Given the description of an element on the screen output the (x, y) to click on. 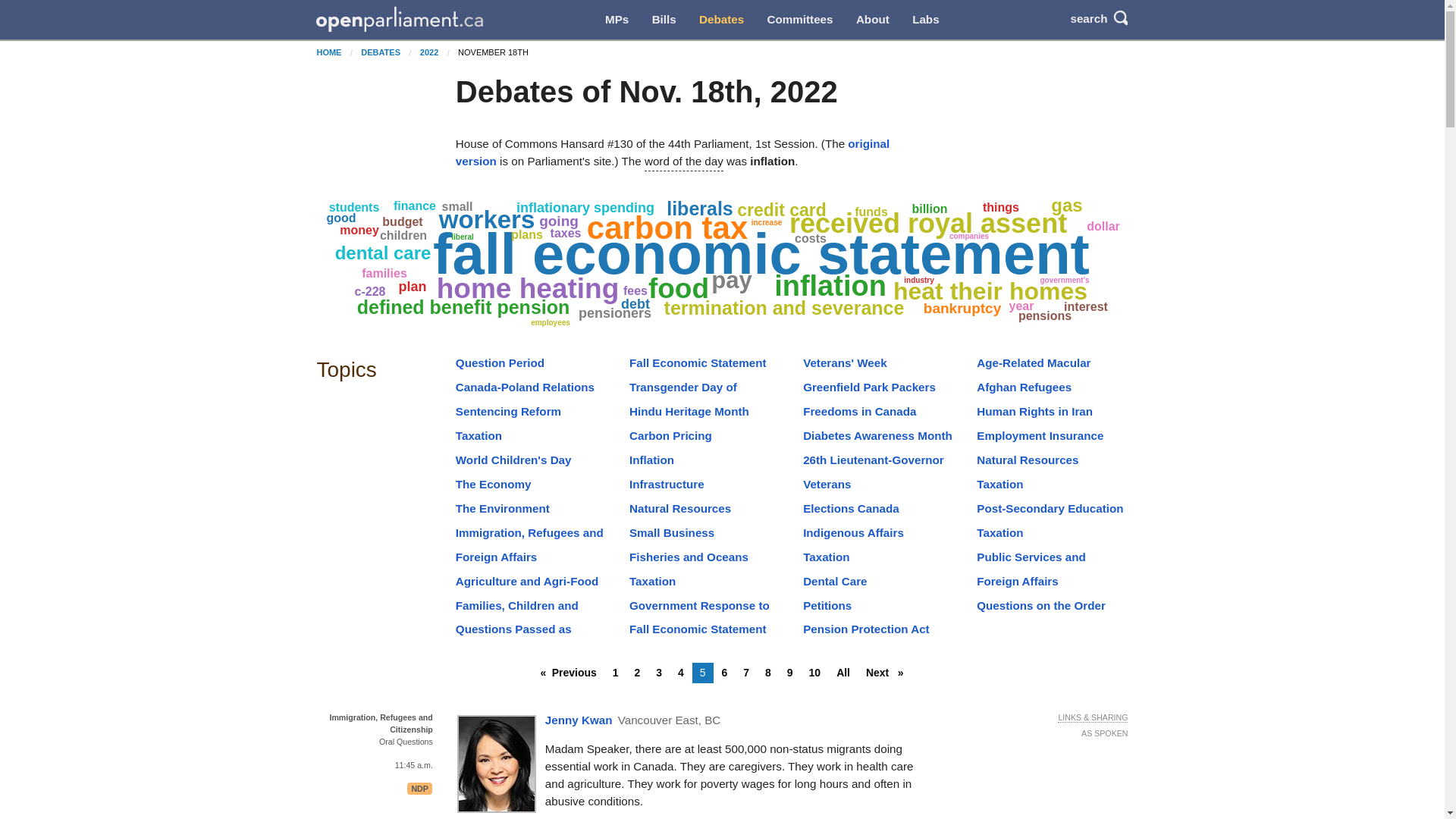
Sentencing Reform (507, 410)
Debates (721, 19)
Greenfield Park Packers Football Association (869, 395)
Labs (925, 19)
Hindu Heritage Month (688, 410)
Diabetes Awareness Month (877, 435)
Fall Economic Statement Implementation Act, 2022 (698, 371)
The Environment (502, 508)
Taxation (478, 435)
Natural Resources (679, 508)
